Given the description of an element on the screen output the (x, y) to click on. 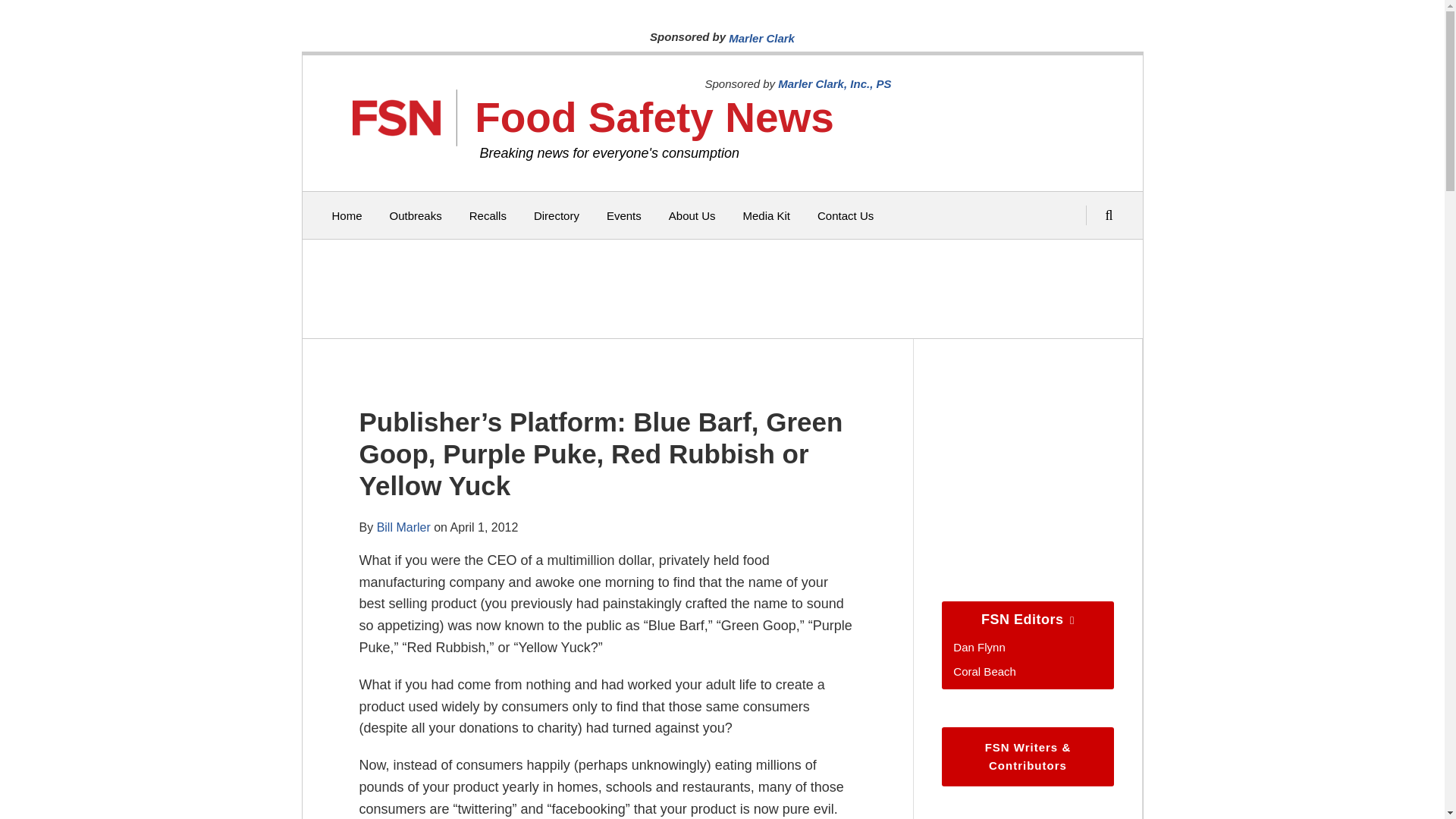
Dan Flynn (978, 645)
Home (346, 215)
Marler Clark, Inc., PS (834, 83)
Recalls (487, 215)
Food Safety News (654, 117)
Outbreaks (416, 215)
Media Kit (766, 215)
Marler Clark (761, 38)
Events (624, 215)
About Us (692, 215)
Advertisement (718, 288)
Coral Beach (984, 670)
Bill Marler (403, 526)
Contact Us (844, 215)
Directory (556, 215)
